Given the description of an element on the screen output the (x, y) to click on. 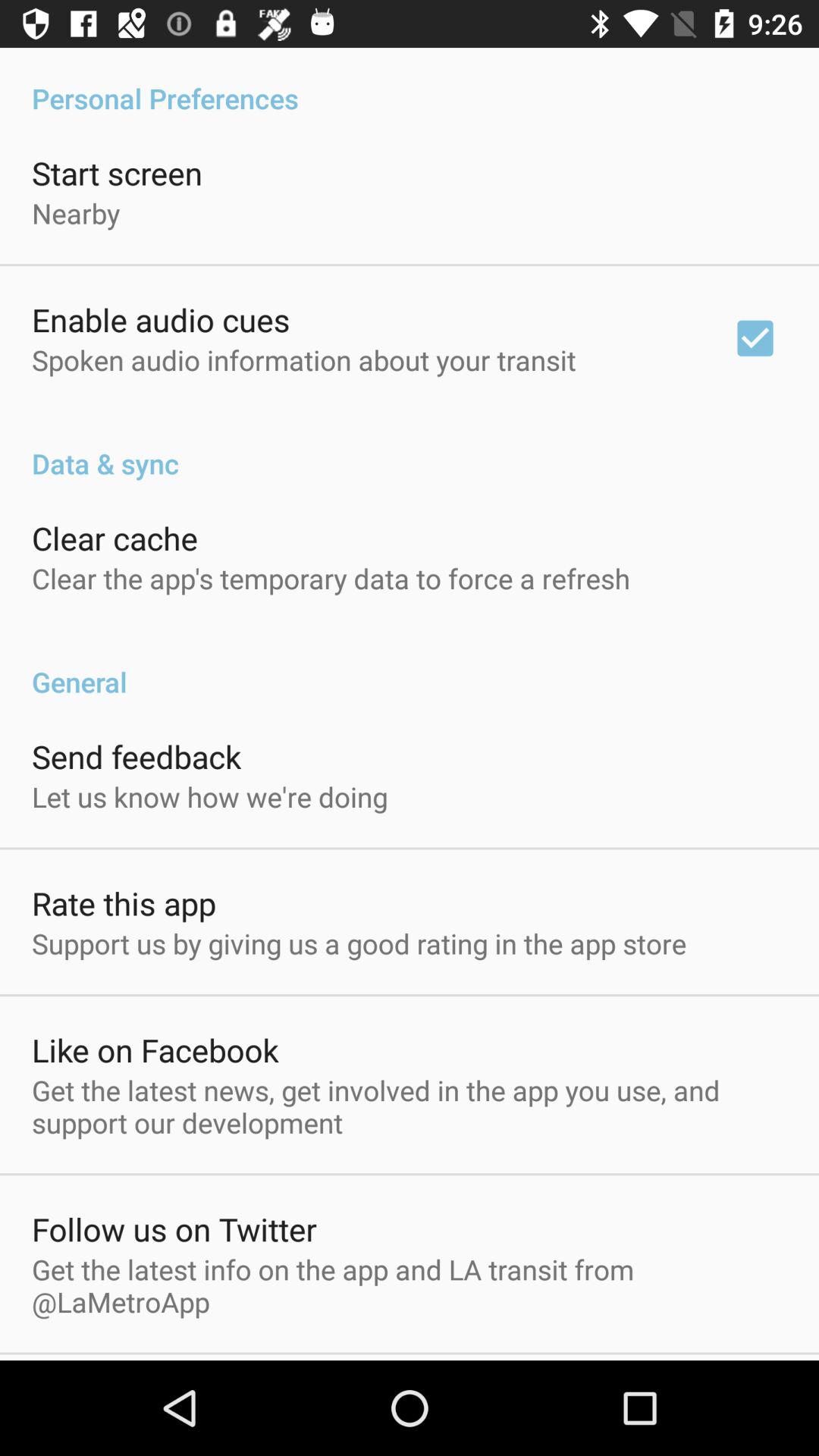
open the support us by app (358, 943)
